Given the description of an element on the screen output the (x, y) to click on. 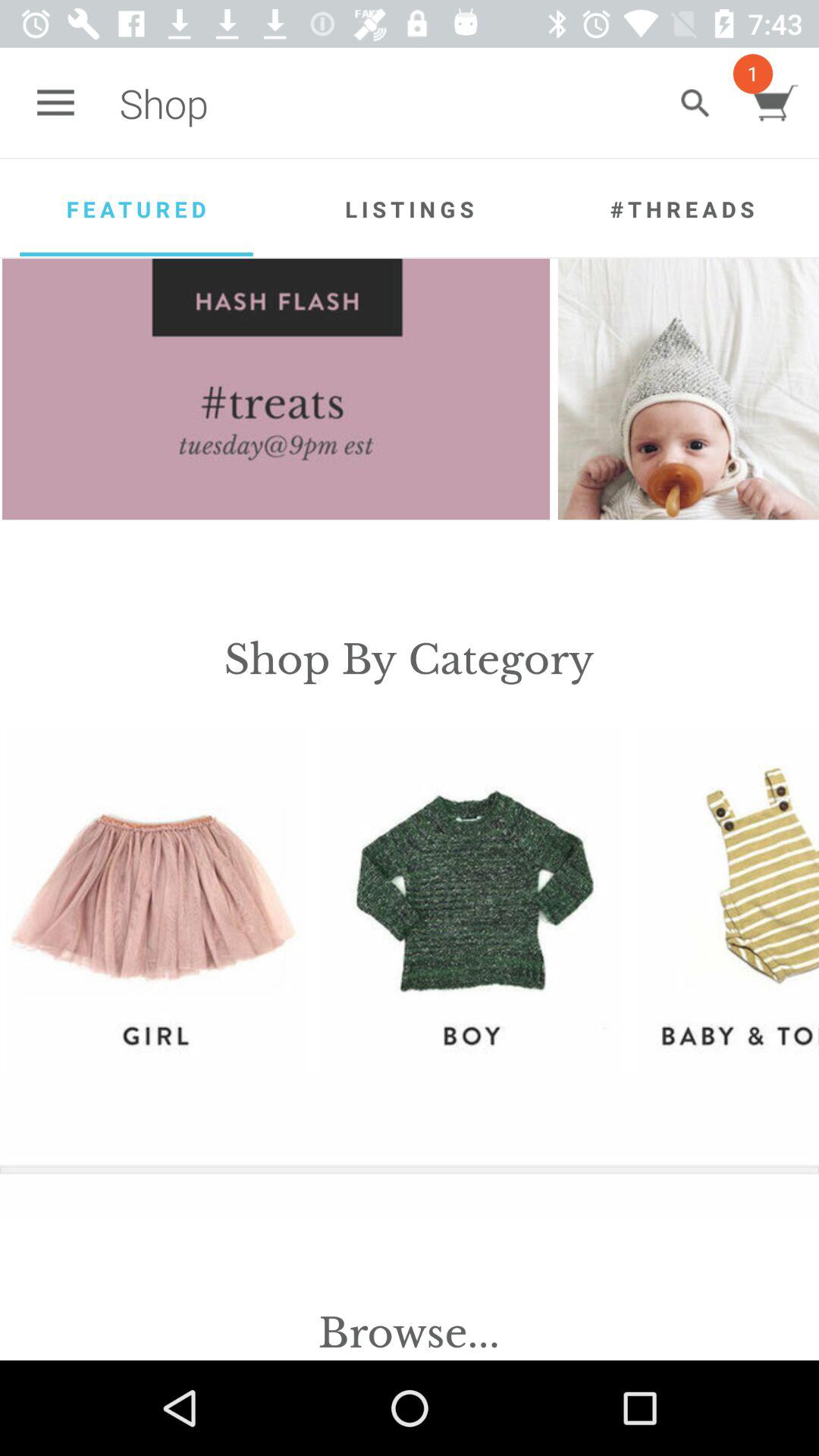
press the icon on the right (727, 899)
